Given the description of an element on the screen output the (x, y) to click on. 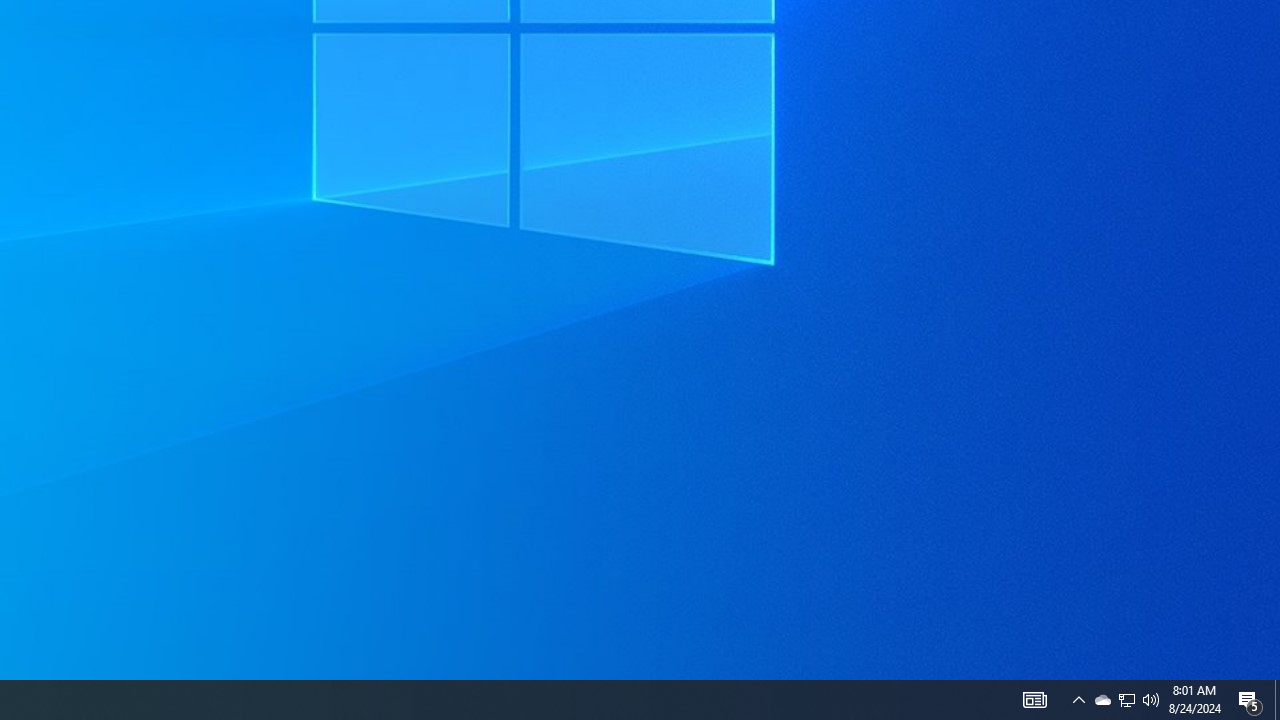
AutomationID: 4105 (1034, 699)
Notification Chevron (1078, 699)
User Promoted Notification Area (1126, 699)
Q2790: 100% (1151, 699)
Action Center, 5 new notifications (1126, 699)
Show desktop (1102, 699)
